Given the description of an element on the screen output the (x, y) to click on. 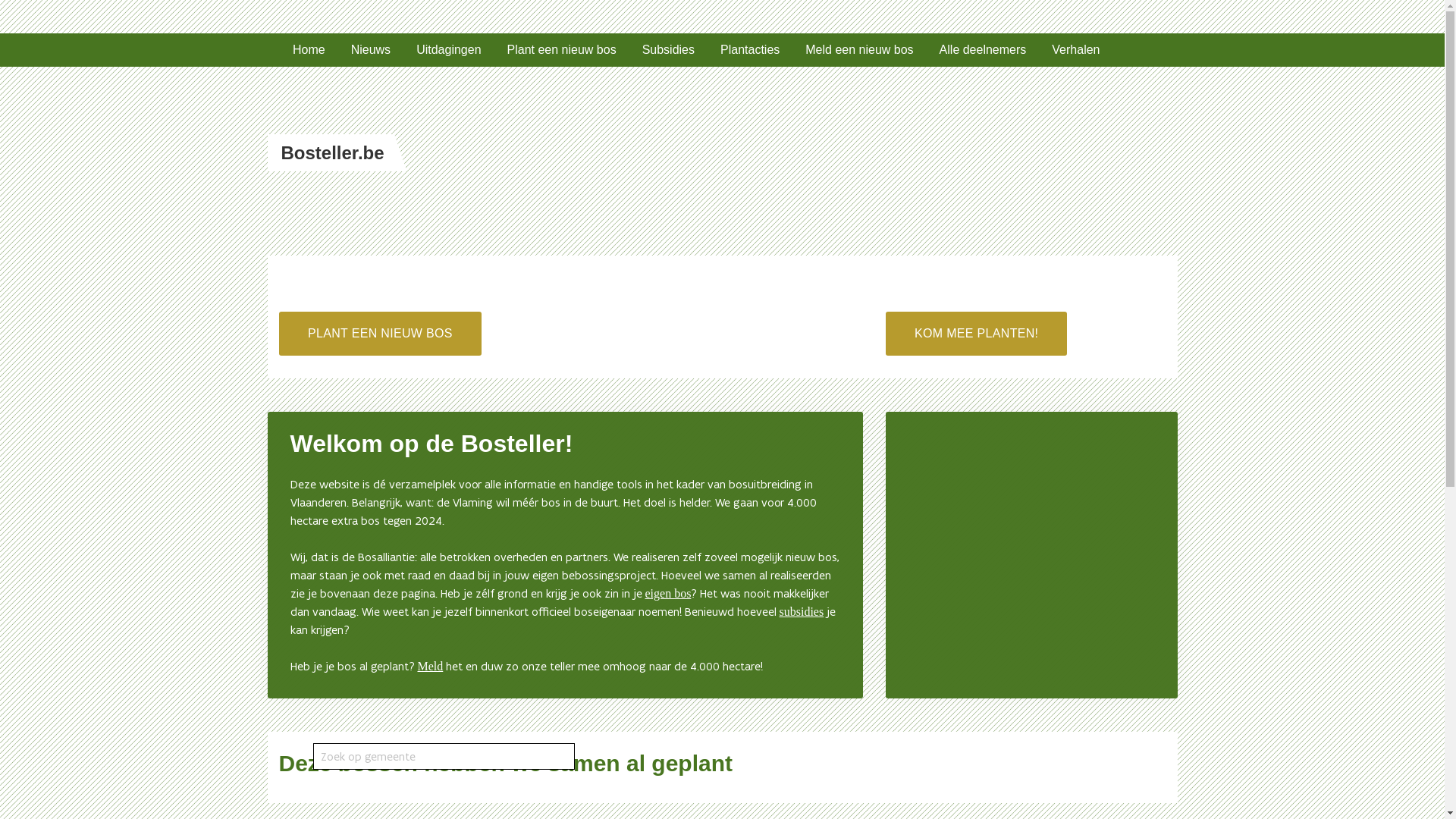
Verhalen Element type: text (1075, 49)
subsidies Element type: text (801, 611)
Meld Element type: text (429, 665)
Nieuws Element type: text (370, 49)
Meld een nieuw bos Element type: text (859, 49)
KOM MEE PLANTEN! Element type: text (975, 333)
Plant een nieuw bos Element type: text (561, 49)
Alle deelnemers Element type: text (982, 49)
PLANT EEN NIEUW BOS Element type: text (380, 333)
eigen bos Element type: text (667, 592)
Uitdagingen Element type: text (448, 49)
Home Element type: text (308, 49)
Plantacties Element type: text (749, 49)
Subsidies Element type: text (668, 49)
